Given the description of an element on the screen output the (x, y) to click on. 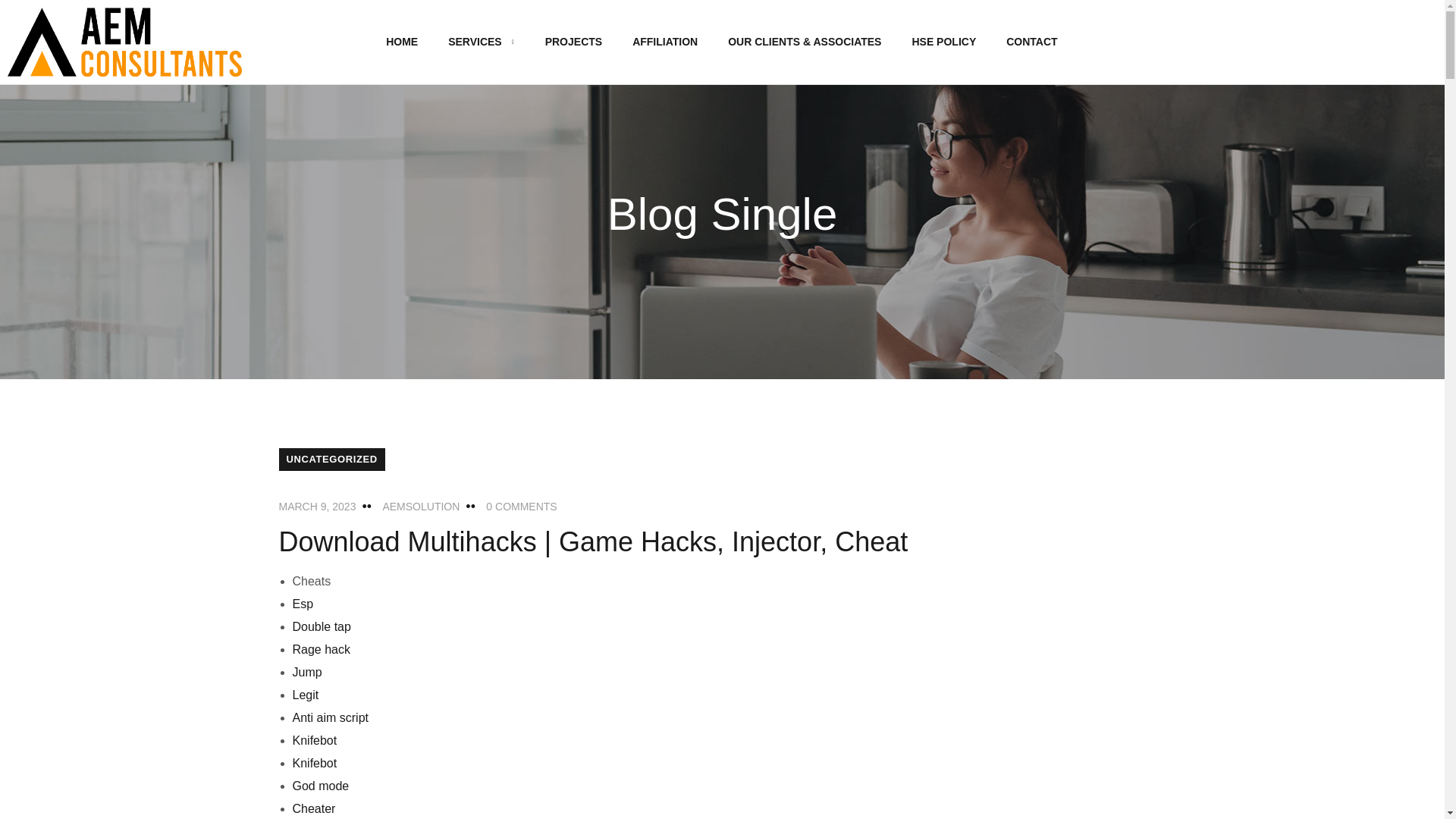
Double tap (321, 626)
Esp (303, 603)
MARCH 9, 2023 (317, 506)
Legit (305, 694)
Cheater (314, 808)
AEMSOLUTION (420, 506)
Knifebot (314, 739)
Anti aim script (330, 717)
UNCATEGORIZED (332, 458)
Jump (306, 671)
